Given the description of an element on the screen output the (x, y) to click on. 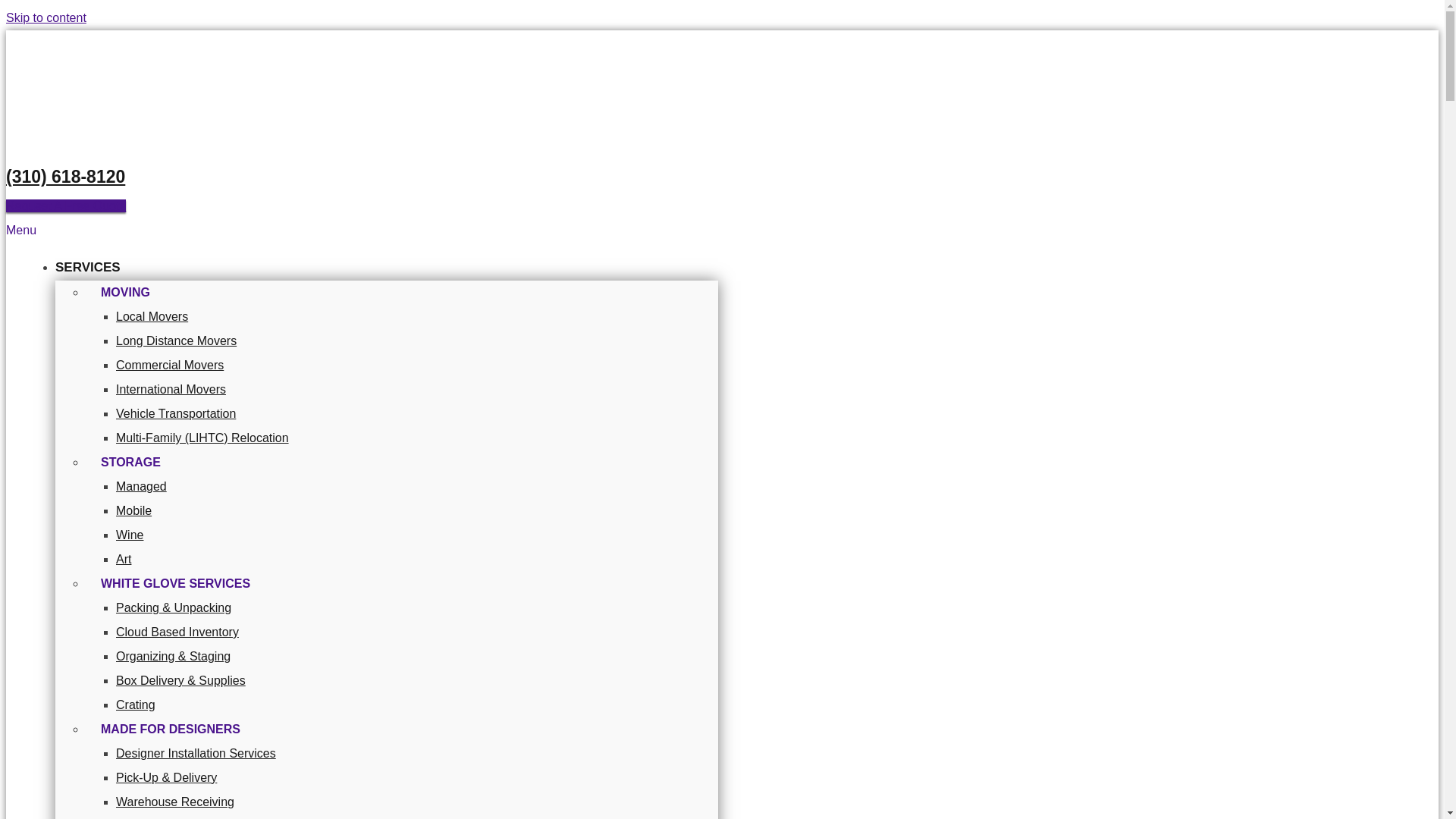
Local Movers (151, 316)
Cloud Based Inventory (177, 631)
Vehicle Transportation (175, 413)
Managed (141, 486)
Warehouse Receiving (175, 801)
Mobile (133, 510)
Commercial Movers (170, 364)
Skip to content (45, 17)
Art (123, 558)
Designer Installation Services (196, 753)
International Movers (170, 389)
Crating (135, 704)
Wine (129, 534)
WHITE GLOVE SERVICES (174, 575)
Menu (20, 229)
